Given the description of an element on the screen output the (x, y) to click on. 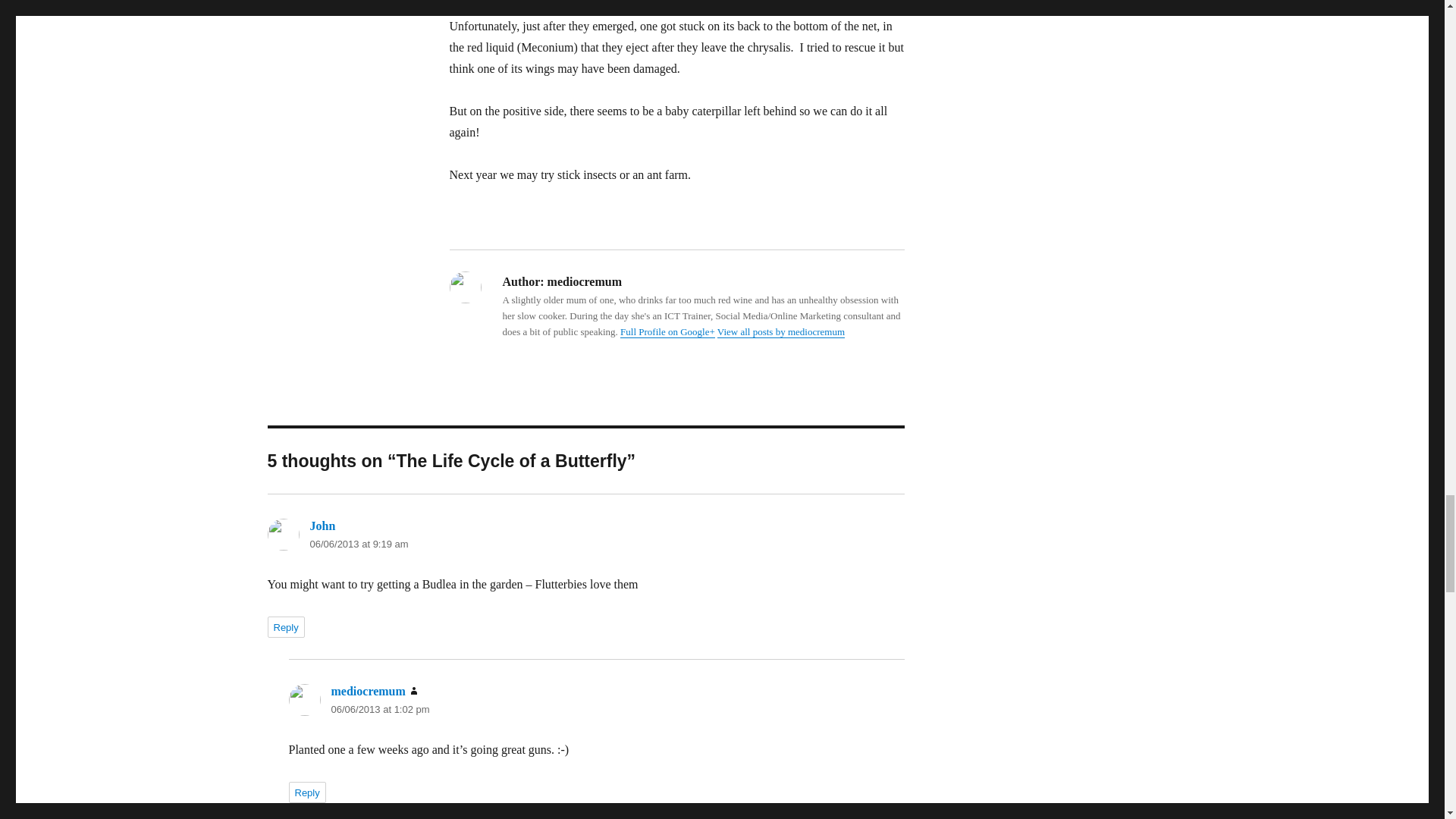
Reply (285, 627)
John (321, 525)
View all posts by mediocremum (780, 331)
mediocremum (367, 690)
Reply (306, 792)
